Given the description of an element on the screen output the (x, y) to click on. 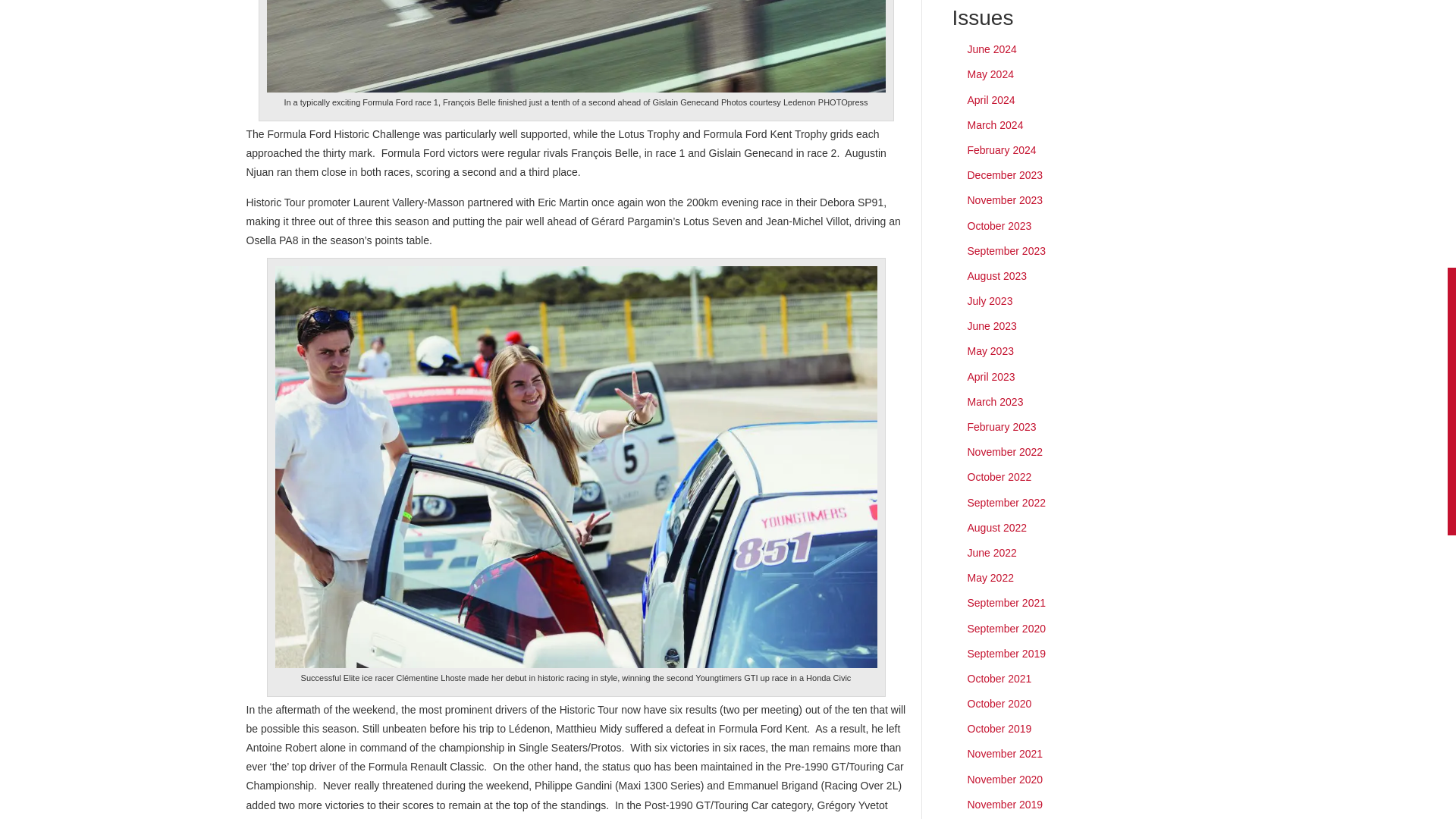
November 2023 (1005, 200)
December 2023 (1005, 174)
April 2024 (991, 100)
June 2024 (992, 49)
March 2024 (995, 124)
February 2024 (1002, 150)
May 2024 (990, 73)
